Given the description of an element on the screen output the (x, y) to click on. 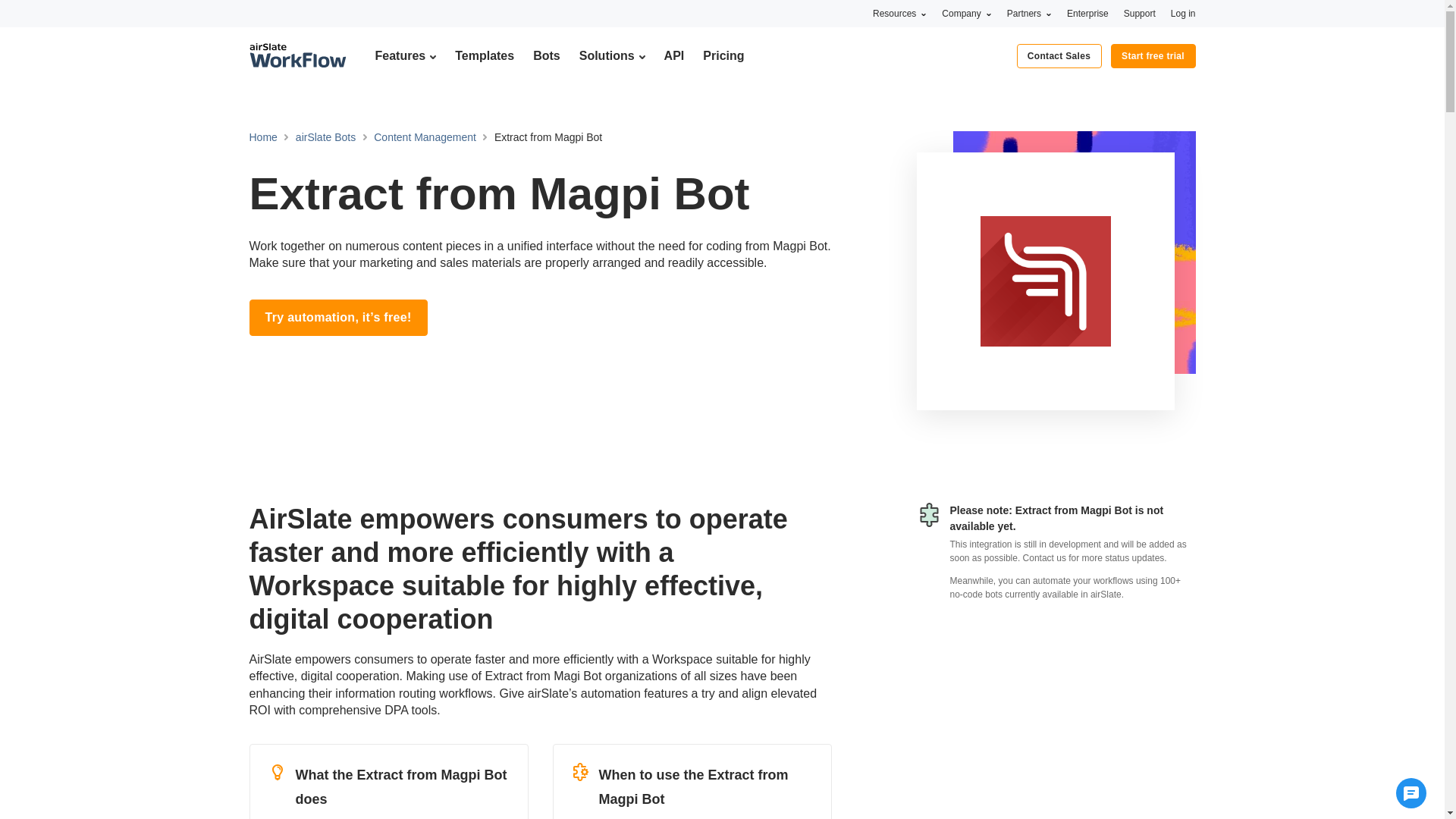
Support (1140, 13)
Company (966, 13)
Enterprise (1087, 13)
Resources (899, 13)
Log in (1182, 13)
Partners (1029, 13)
Templates (483, 55)
